Given the description of an element on the screen output the (x, y) to click on. 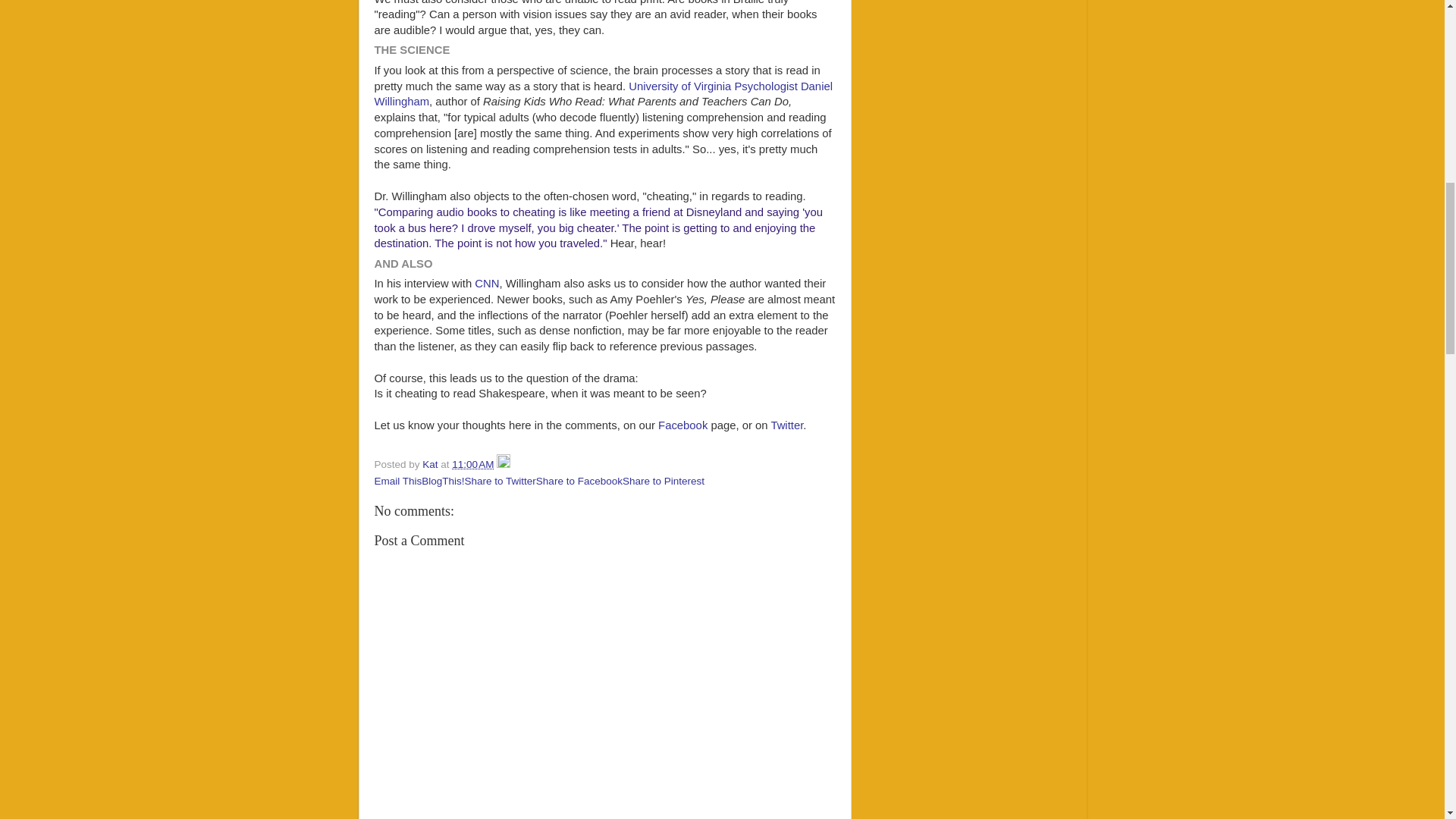
Share to Facebook (579, 480)
Share to Pinterest (663, 480)
BlogThis! (443, 480)
Twitter (786, 425)
BlogThis! (443, 480)
Share to Pinterest (663, 480)
CNN (486, 283)
Edit Post (503, 464)
Facebook (684, 425)
author profile (431, 464)
Email This (398, 480)
Share to Facebook (579, 480)
Share to Twitter (499, 480)
Share to Twitter (499, 480)
